Given the description of an element on the screen output the (x, y) to click on. 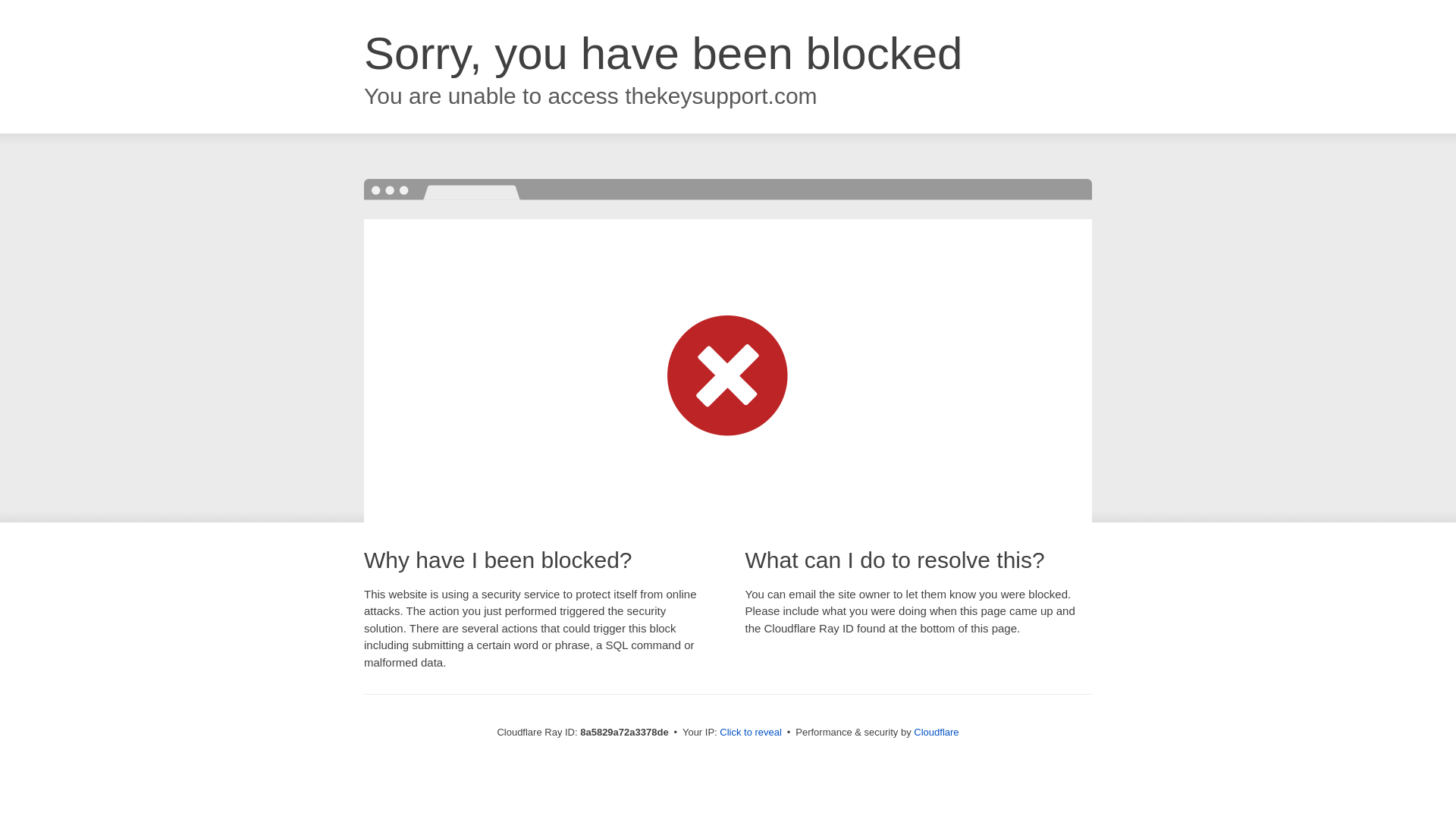
Click to reveal (750, 732)
Cloudflare (936, 731)
